Given the description of an element on the screen output the (x, y) to click on. 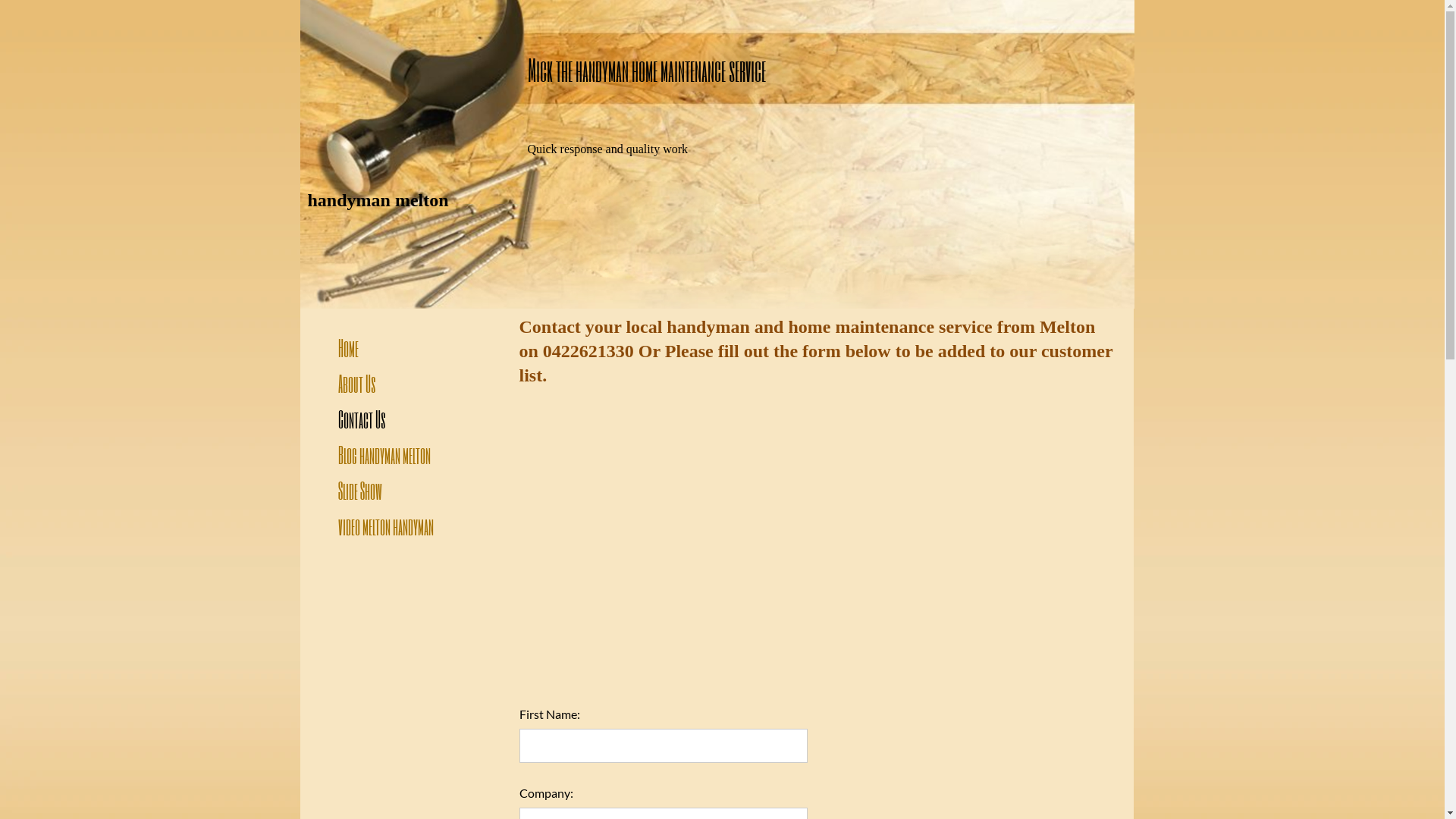
About Us Element type: text (356, 383)
Contact Us Element type: text (361, 419)
Slide Show Element type: text (359, 490)
Google Maps Element type: hover (662, 547)
Home Element type: text (348, 347)
video melton handyman Element type: text (385, 525)
Blog handyman melton Element type: text (384, 454)
